Given the description of an element on the screen output the (x, y) to click on. 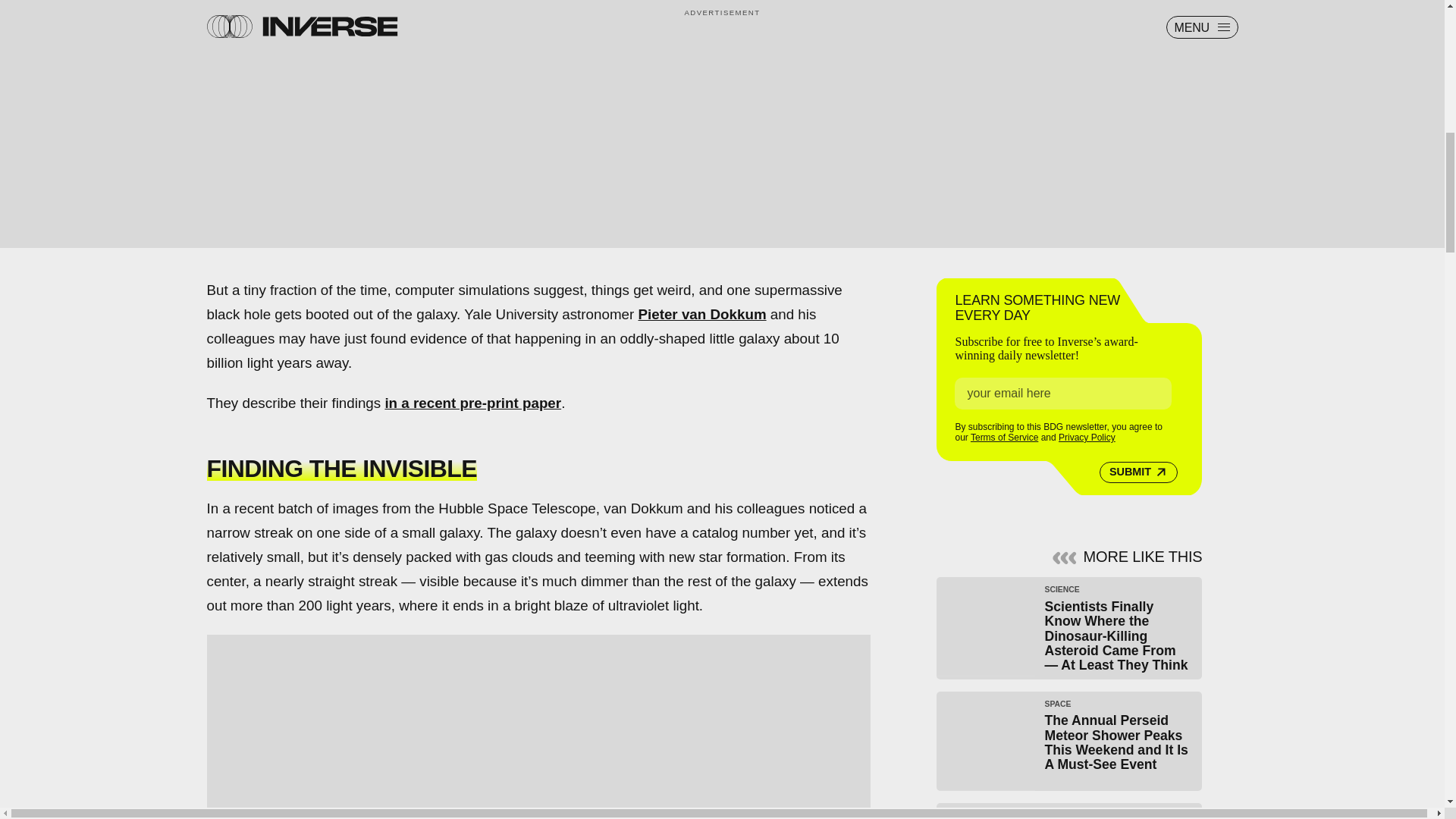
Pieter van Dokkum (701, 314)
Terms of Service (1004, 437)
in a recent pre-print paper (472, 402)
Privacy Policy (1086, 437)
SUBMIT (1138, 472)
